Given the description of an element on the screen output the (x, y) to click on. 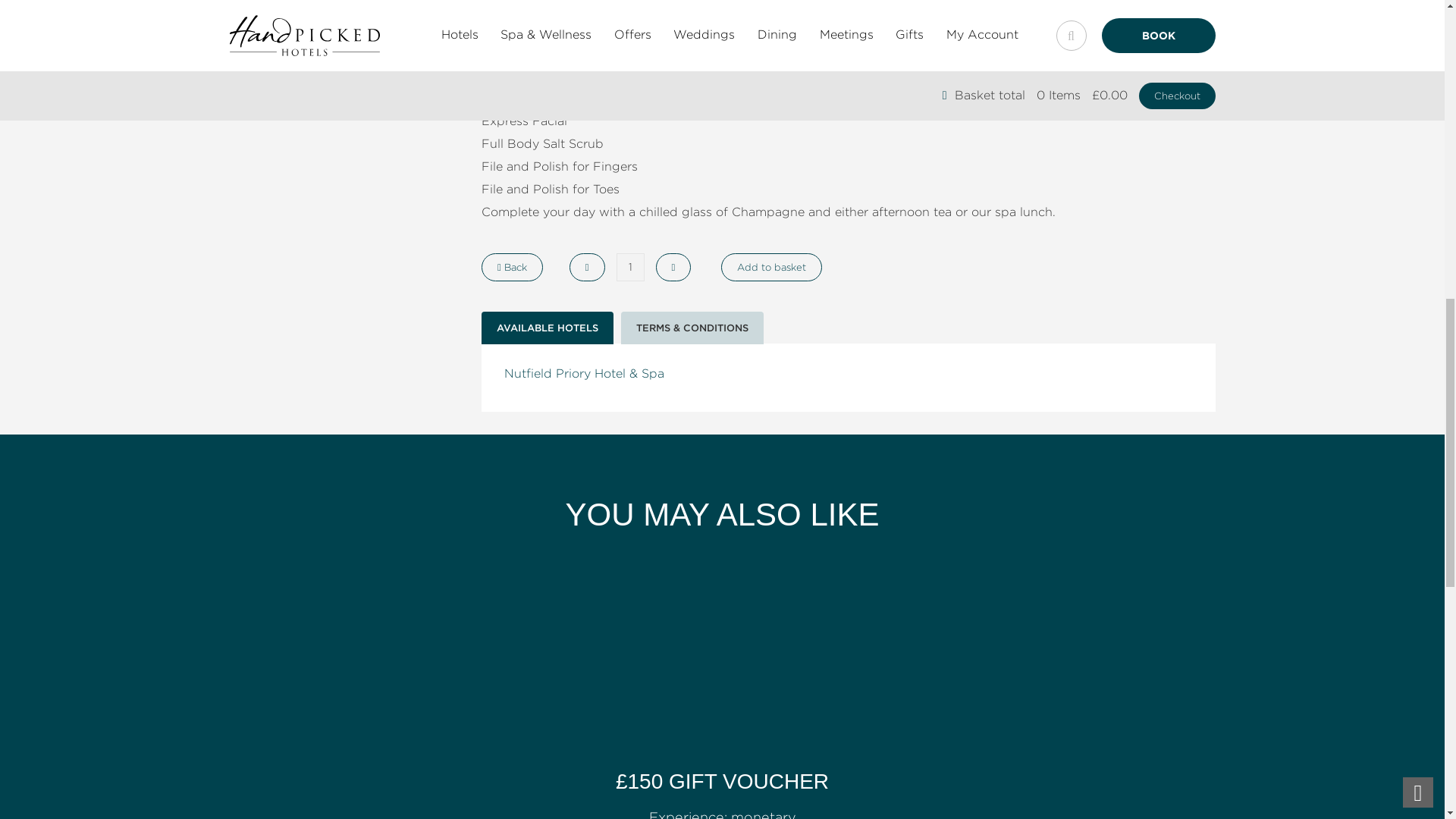
1 (629, 267)
